Given the description of an element on the screen output the (x, y) to click on. 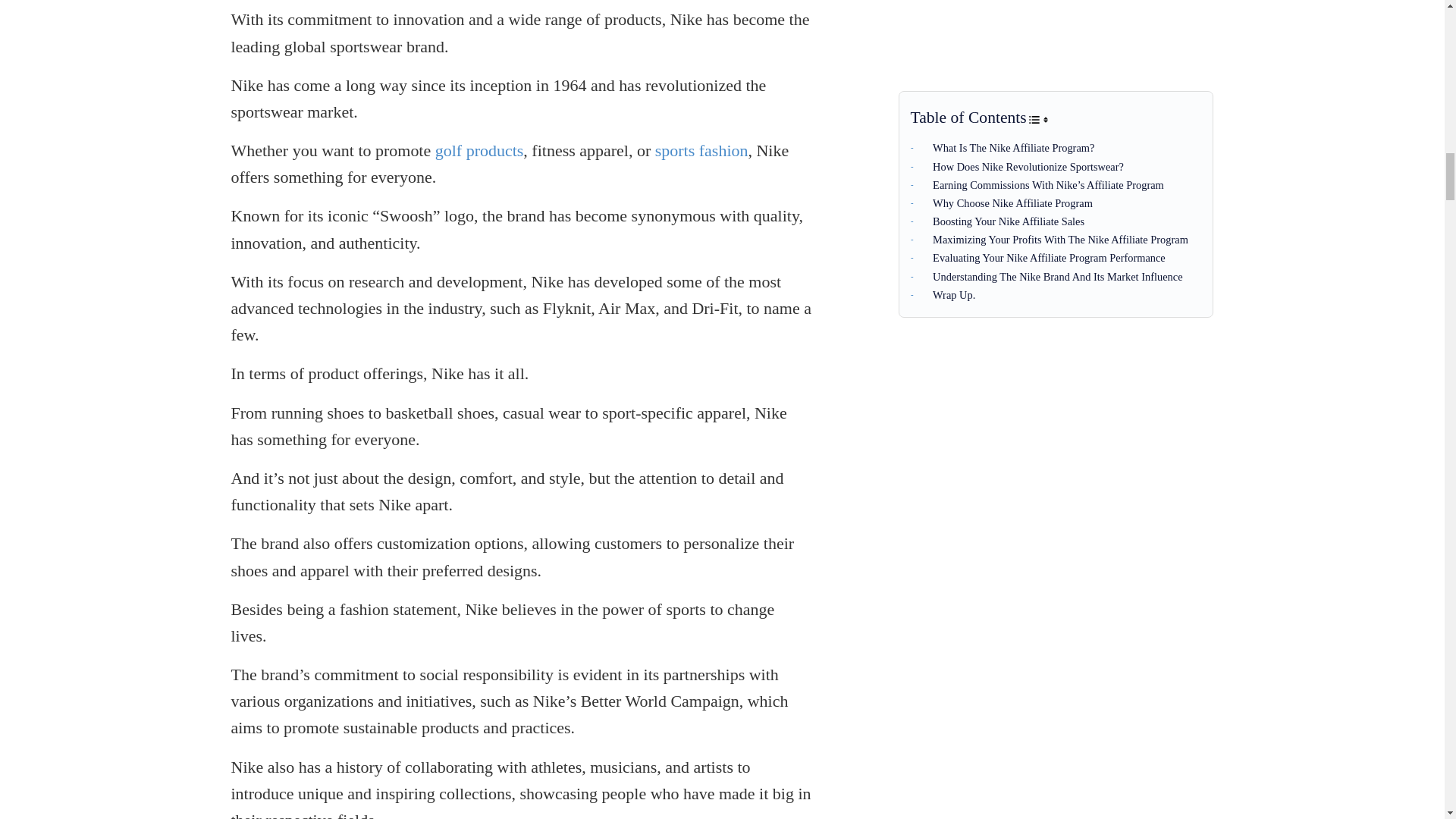
sports fashion (701, 149)
golf products (479, 149)
